Given the description of an element on the screen output the (x, y) to click on. 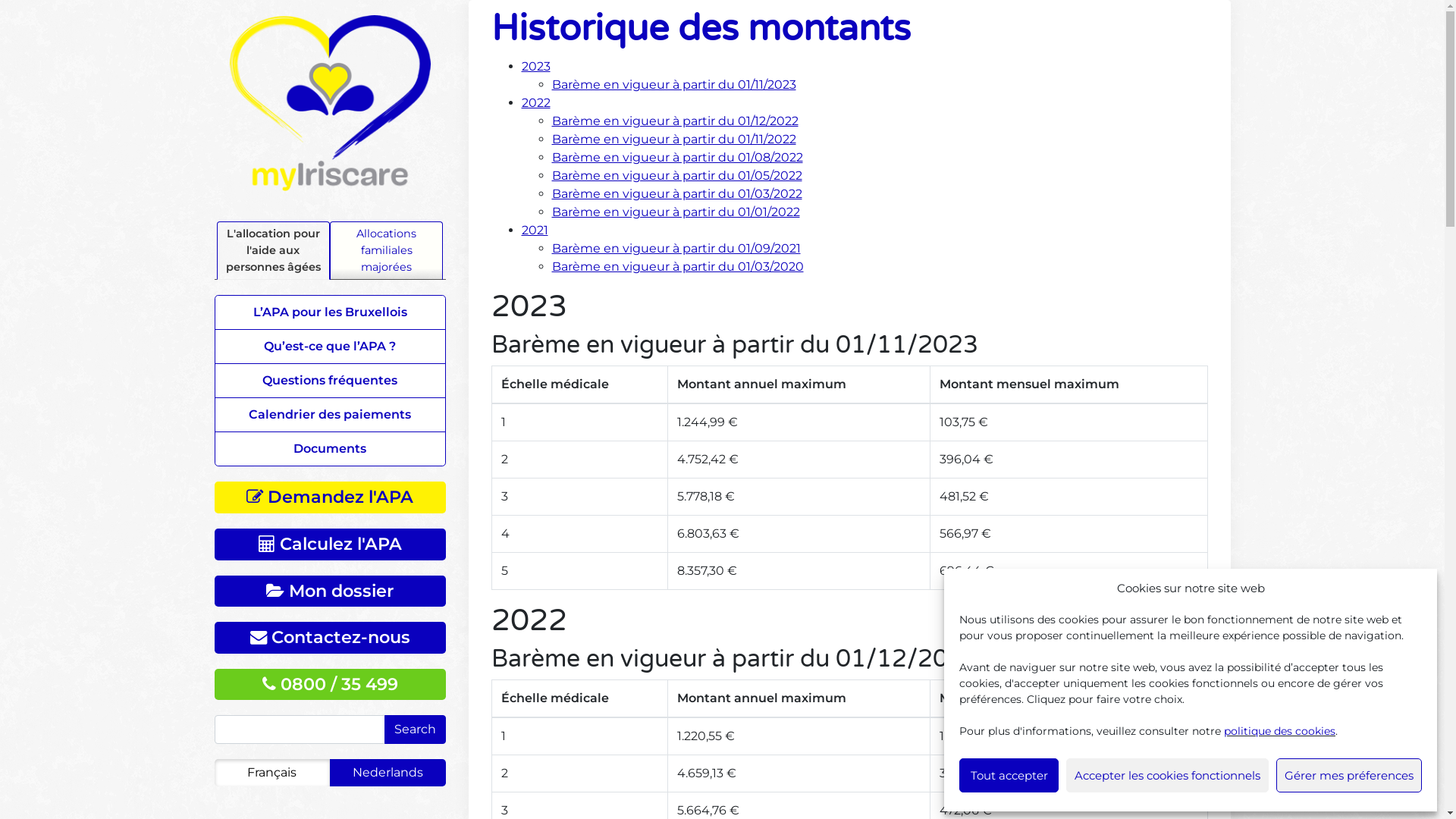
Nederlands Element type: text (387, 772)
Accepter les cookies fonctionnels Element type: text (1167, 775)
2022 Element type: text (535, 102)
politique des cookies Element type: text (1279, 730)
Documents Element type: text (330, 448)
Search Element type: text (414, 729)
Tout accepter Element type: text (1008, 775)
Mon dossier Element type: text (329, 591)
Calendrier des paiements Element type: text (330, 414)
2023 Element type: text (535, 66)
Calculez l'APA Element type: text (329, 544)
Demandez l'APA Element type: text (329, 497)
2021 Element type: text (534, 229)
Contactez-nous Element type: text (329, 637)
